Given the description of an element on the screen output the (x, y) to click on. 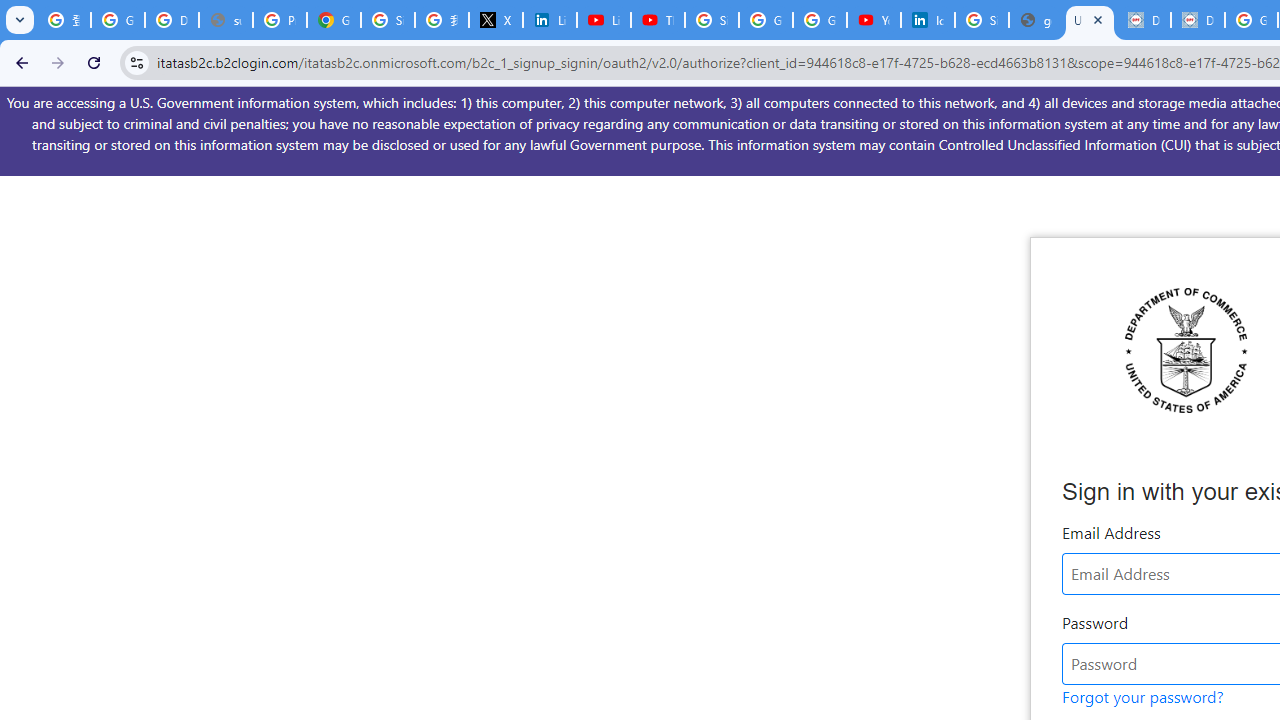
Sign in - Google Accounts (387, 20)
Sign in - Google Accounts (711, 20)
support.google.com - Network error (225, 20)
LinkedIn - YouTube (604, 20)
LinkedIn Privacy Policy (550, 20)
Data Privacy Framework (1197, 20)
Privacy Help Center - Policies Help (280, 20)
User Details (1089, 20)
X (495, 20)
